Given the description of an element on the screen output the (x, y) to click on. 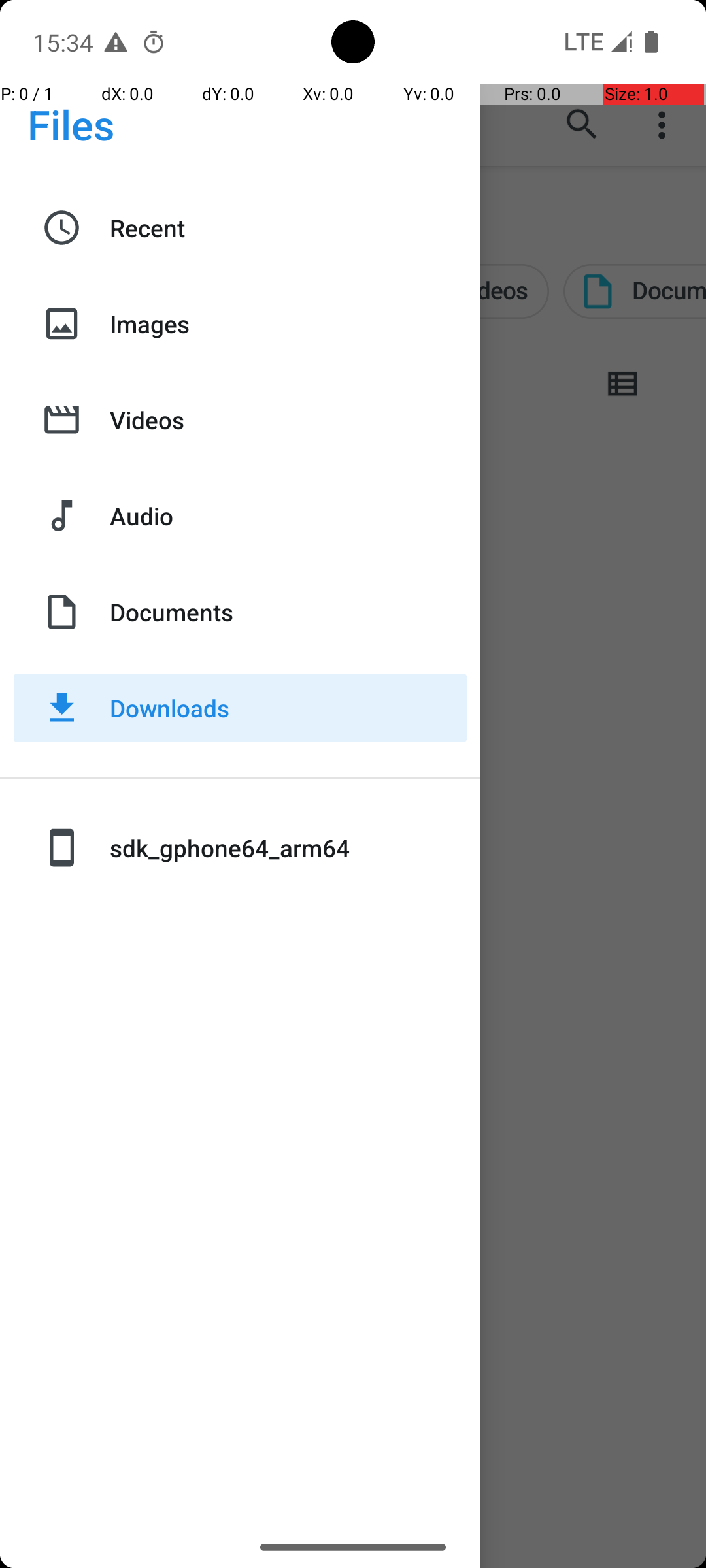
Files Element type: android.widget.TextView (70, 124)
sdk_gphone64_arm64 Element type: android.widget.TextView (287, 847)
